Given the description of an element on the screen output the (x, y) to click on. 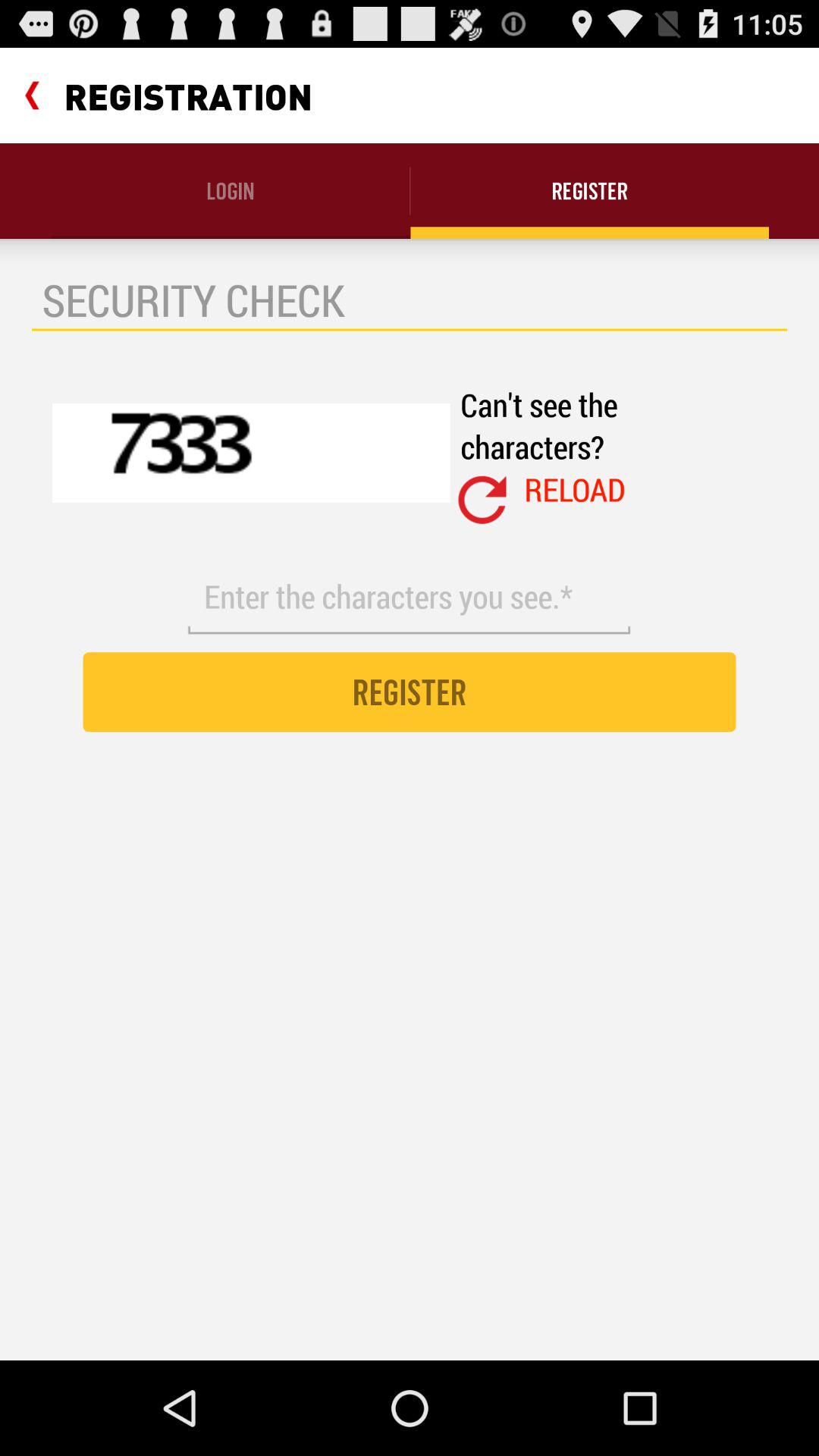
open the reload icon (574, 489)
